Given the description of an element on the screen output the (x, y) to click on. 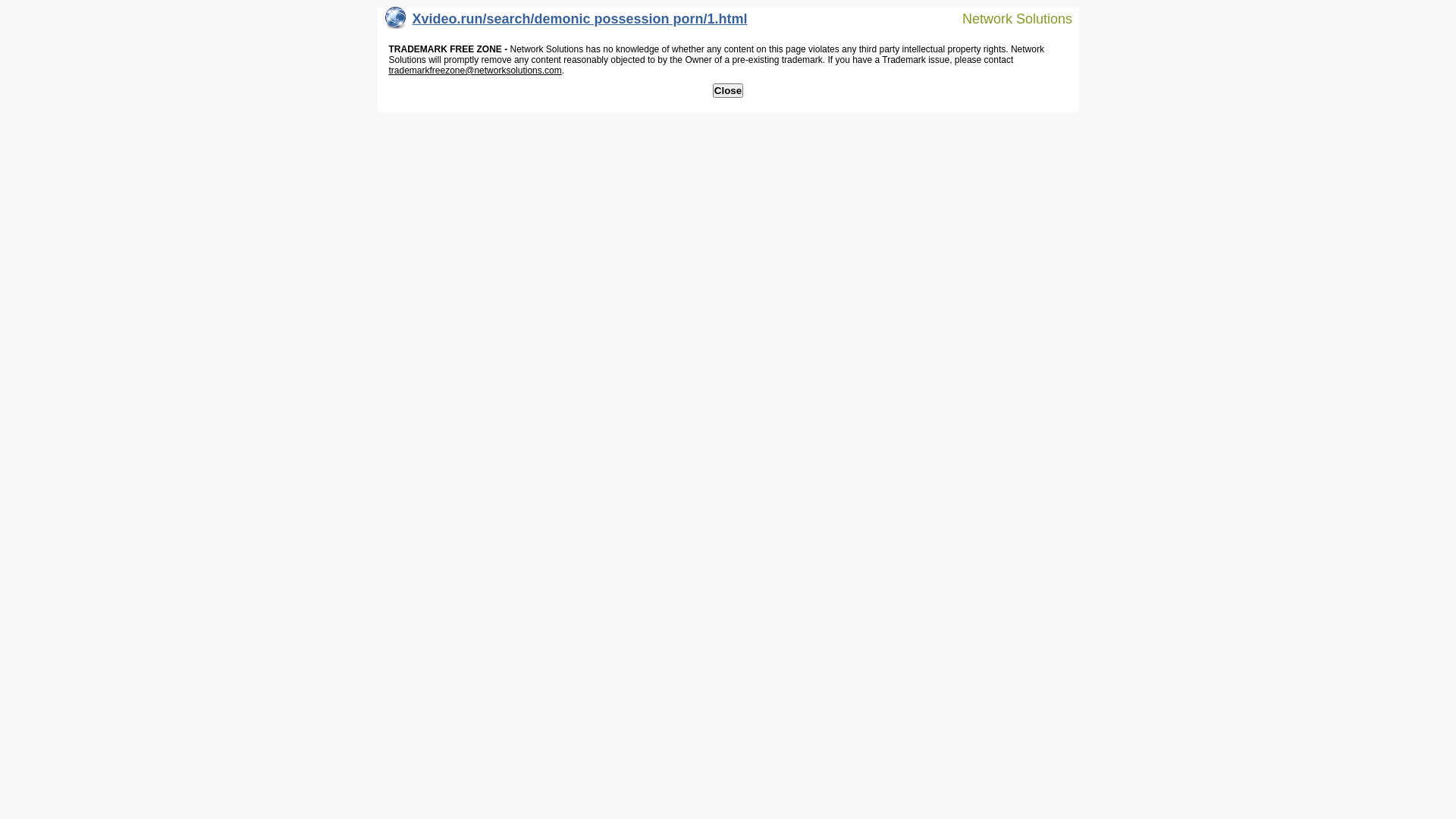
Network Solutions Element type: text (1007, 17)
Xvideo.run/search/demonic possession porn/1.html Element type: text (566, 21)
trademarkfreezone@networksolutions.com Element type: text (474, 70)
Close Element type: text (727, 90)
